Given the description of an element on the screen output the (x, y) to click on. 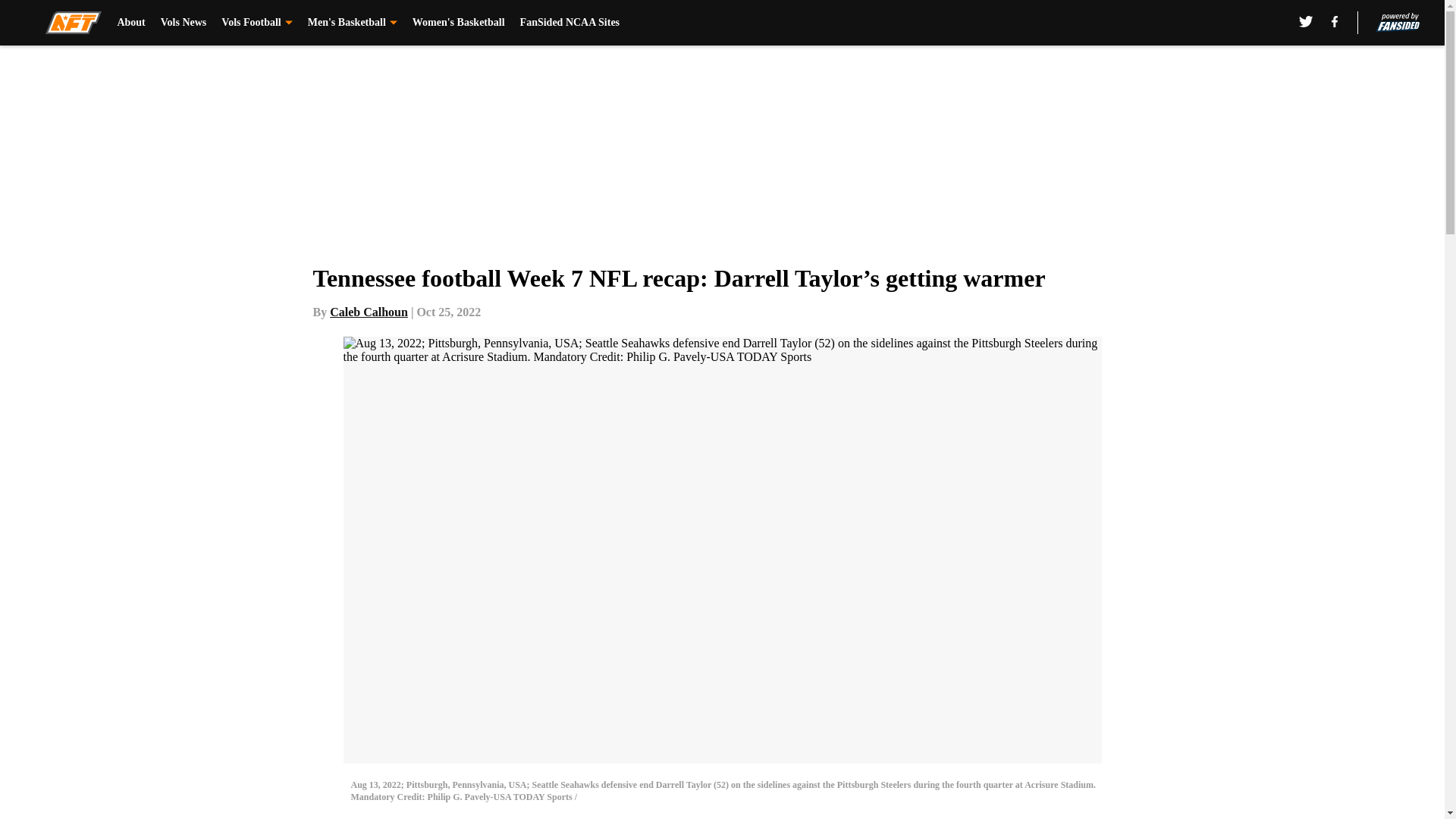
About (130, 22)
Women's Basketball (458, 22)
Caleb Calhoun (368, 311)
FanSided NCAA Sites (569, 22)
Vols News (183, 22)
